Given the description of an element on the screen output the (x, y) to click on. 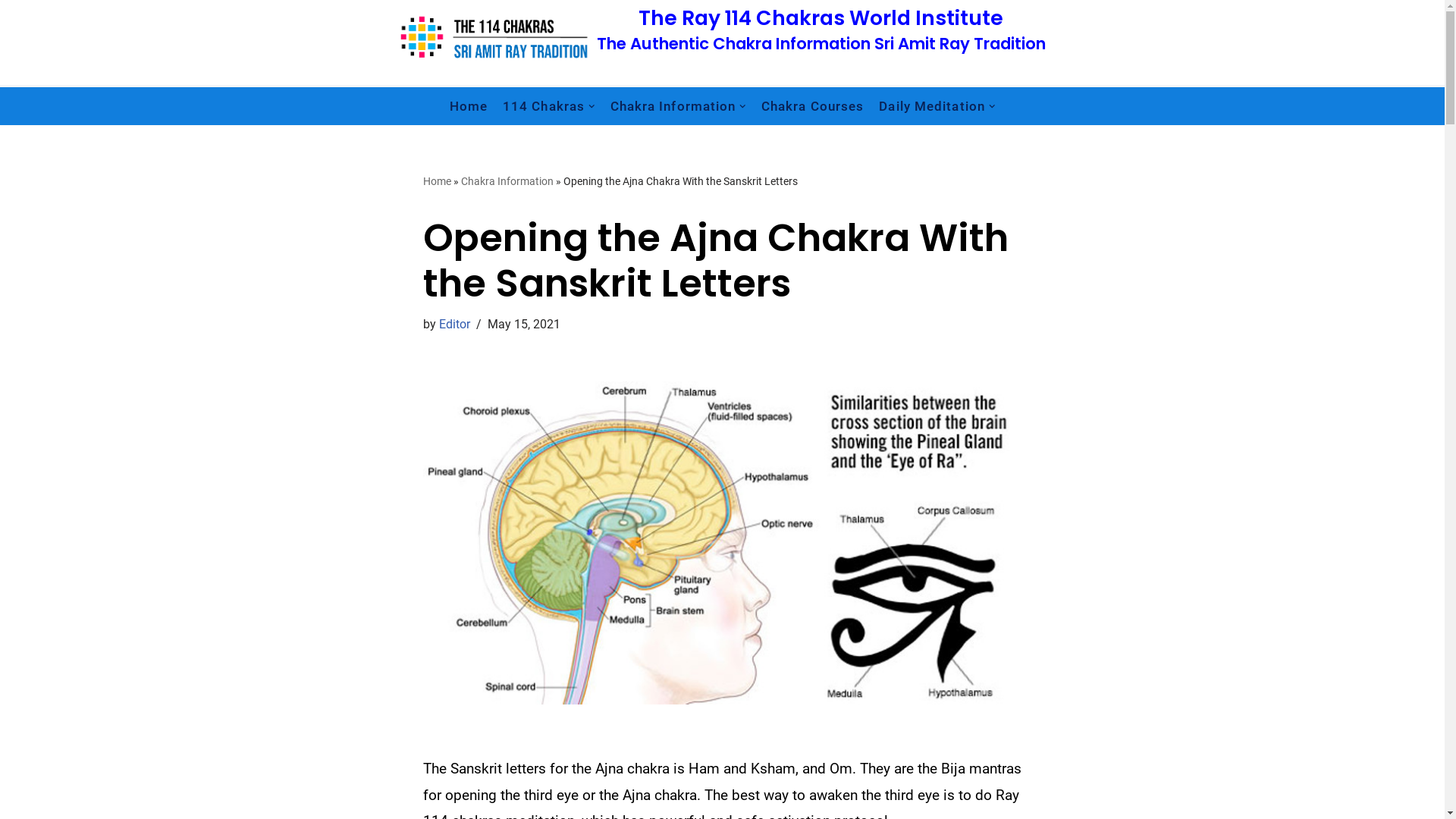
Skip to content Element type: text (11, 31)
Chakra Information Element type: text (507, 181)
Home Element type: text (437, 181)
Editor Element type: text (454, 323)
Chakra Information Element type: text (678, 106)
Home Element type: text (468, 106)
114 Chakras Element type: text (548, 106)
Chakra Courses Element type: text (812, 106)
Daily Meditation Element type: text (936, 106)
